Given the description of an element on the screen output the (x, y) to click on. 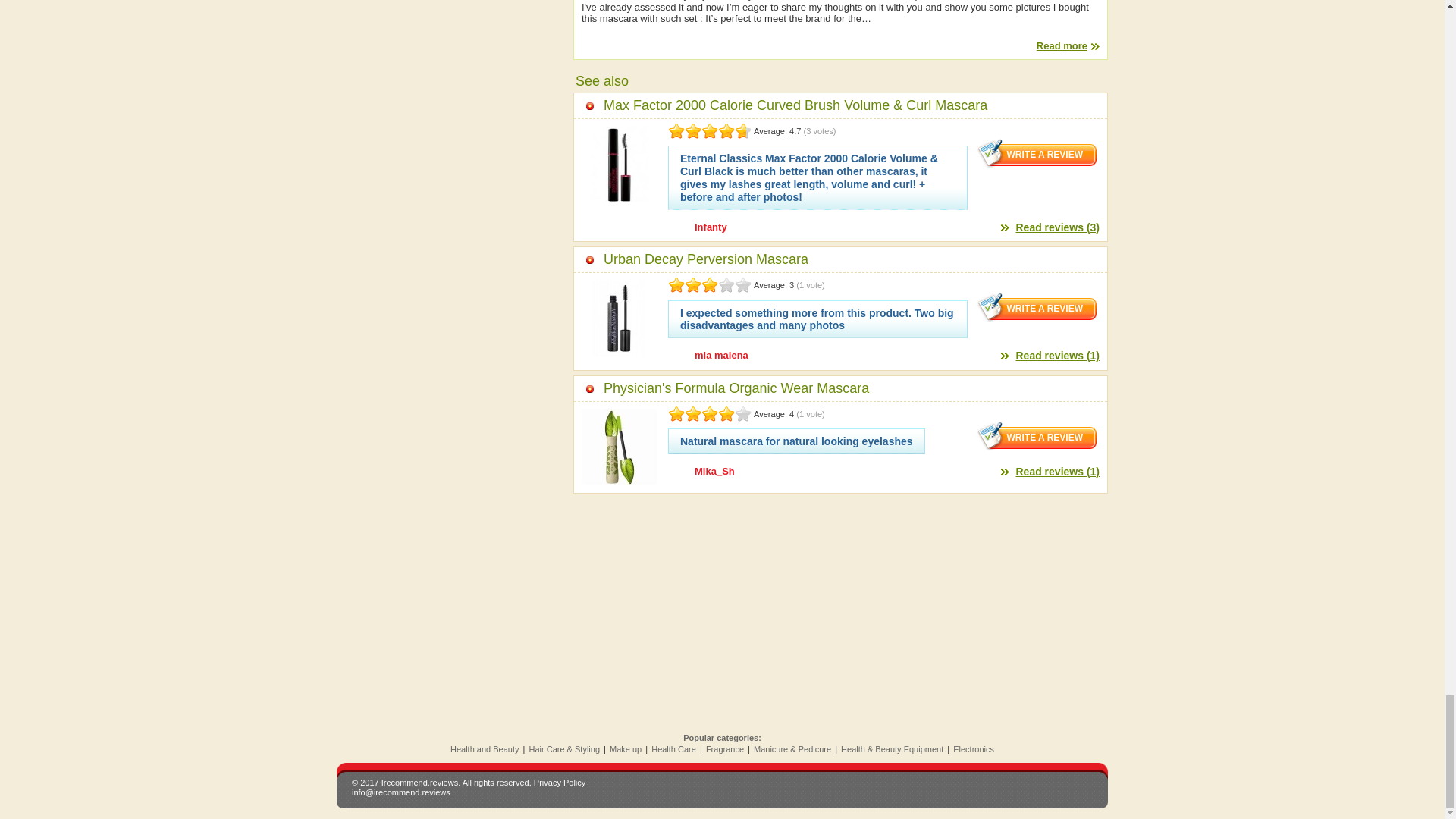
Write a review (1037, 435)
Write a review (1037, 152)
Write a review (1037, 306)
